Given the description of an element on the screen output the (x, y) to click on. 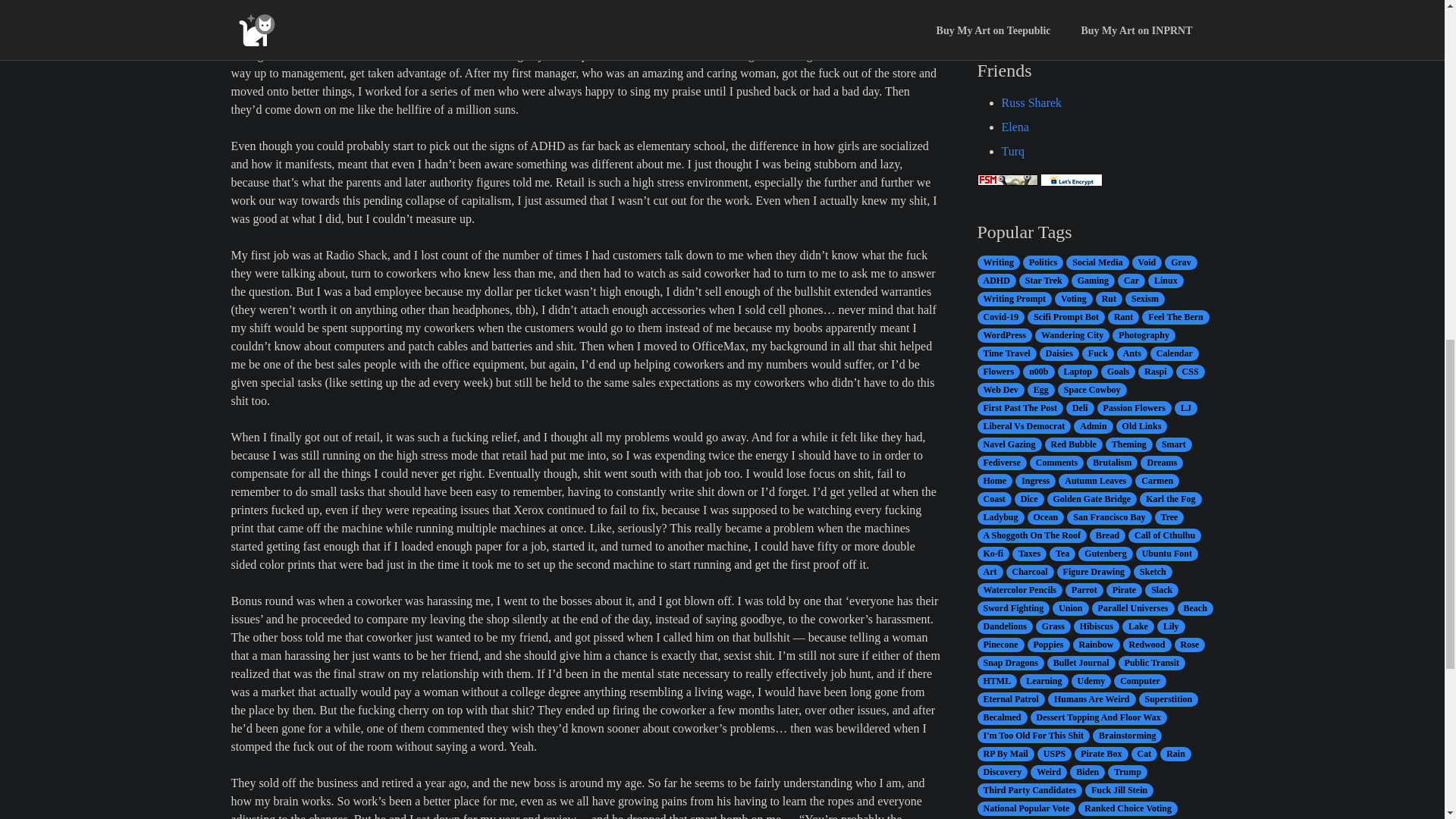
Writing (997, 262)
Void (1146, 262)
Russ Sharek (1031, 102)
Gaming (1093, 280)
Social Media (1096, 262)
Star Trek (1043, 280)
Turq (1013, 151)
Klingon Pop Warrior (1051, 1)
ADHD (995, 280)
Politics (1042, 262)
